Given the description of an element on the screen output the (x, y) to click on. 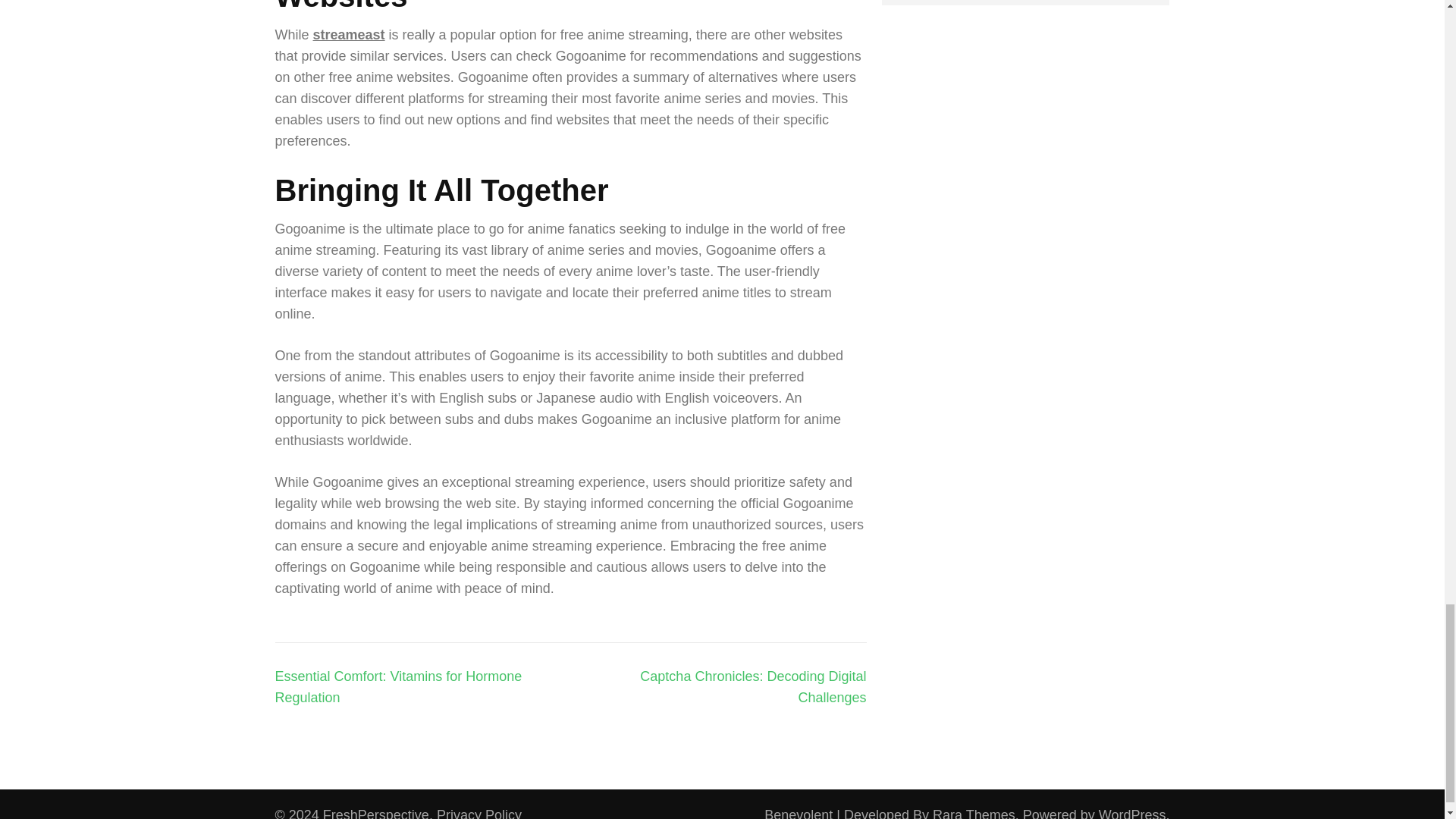
streameast (349, 34)
Captcha Chronicles: Decoding Digital Challenges (753, 687)
Essential Comfort: Vitamins for Hormone Regulation (398, 687)
